Given the description of an element on the screen output the (x, y) to click on. 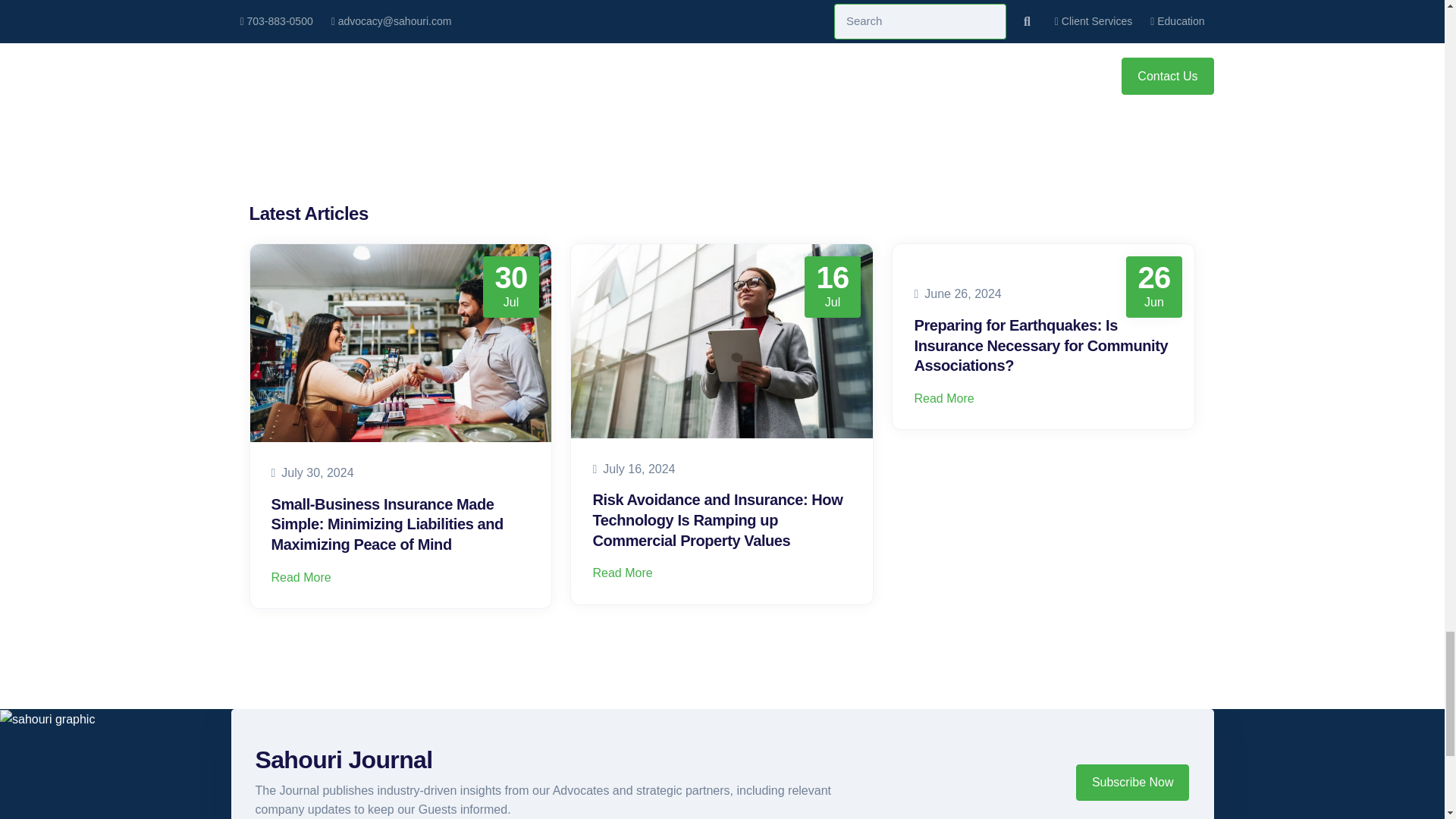
commercial insurance (721, 341)
sahouri logo (1131, 775)
business risk (400, 343)
sahouri graphic (47, 719)
